Given the description of an element on the screen output the (x, y) to click on. 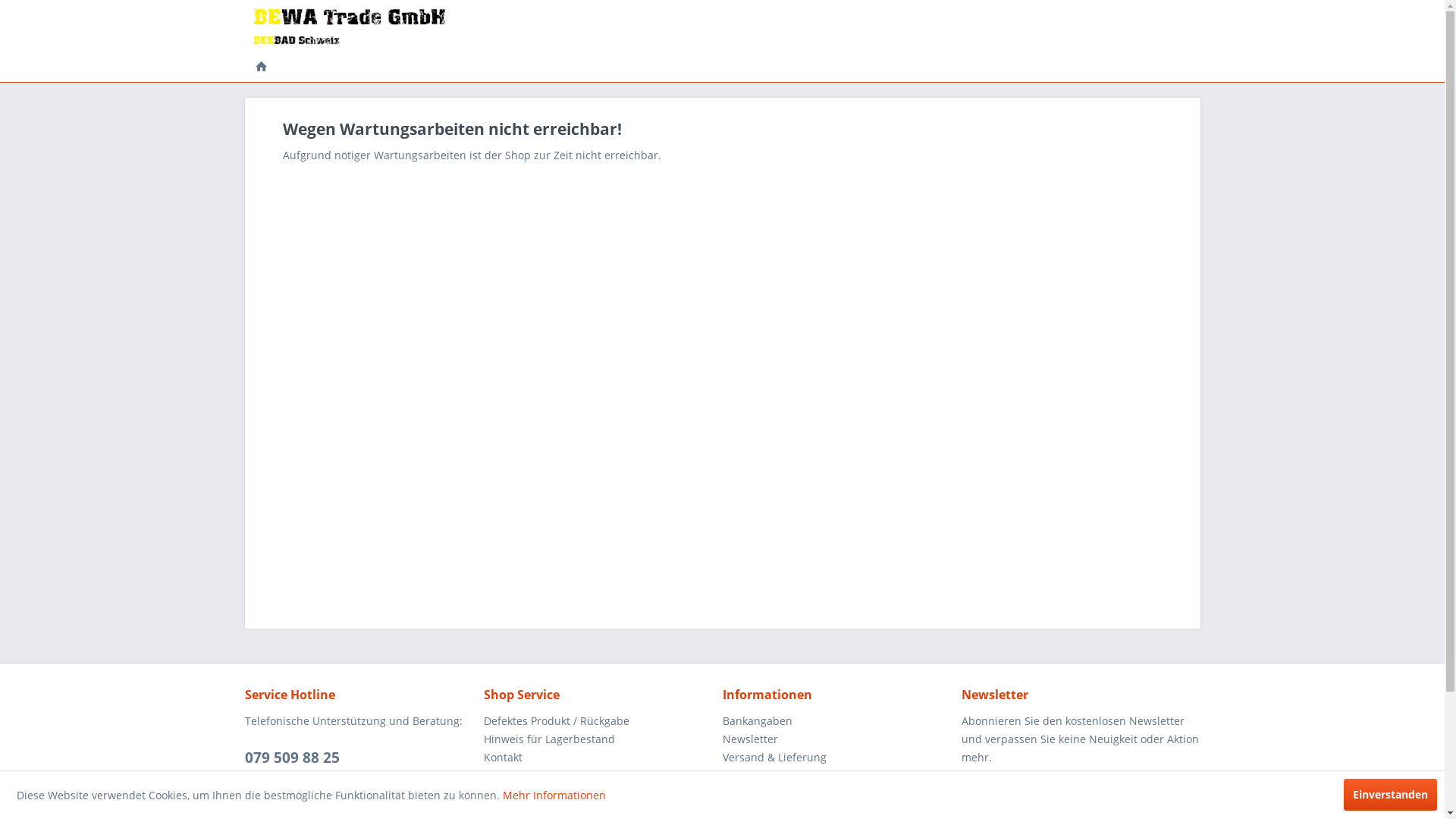
BEWA Trade Gmbh - zur Startseite wechseln Element type: hover (348, 26)
Home Element type: hover (260, 67)
Impressum Element type: text (837, 774)
Kontakt Element type: text (599, 757)
AGB Element type: text (599, 774)
Einverstanden Element type: text (1390, 794)
Mehr Informationen Element type: text (553, 794)
079 509 88 25 Element type: text (291, 757)
Bankangaben Element type: text (837, 721)
Versand & Lieferung Element type: text (837, 757)
Newsletter Element type: text (837, 739)
